Given the description of an element on the screen output the (x, y) to click on. 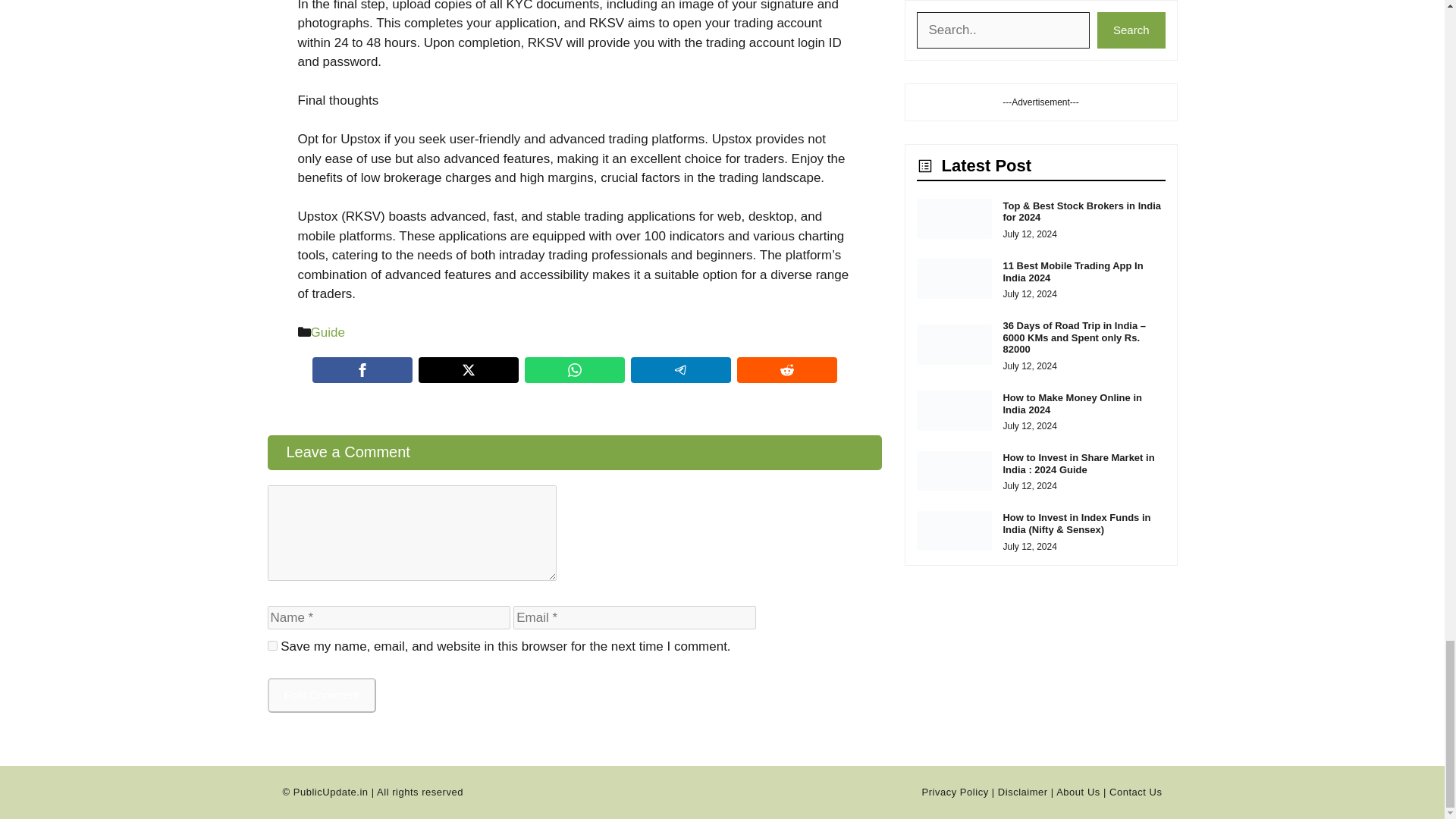
Guide (328, 332)
Post Comment (320, 695)
Post Comment (320, 695)
yes (271, 645)
About Us (1078, 791)
Contact Us (1135, 791)
Disclaimer (1022, 791)
Privacy Policy (954, 791)
